Given the description of an element on the screen output the (x, y) to click on. 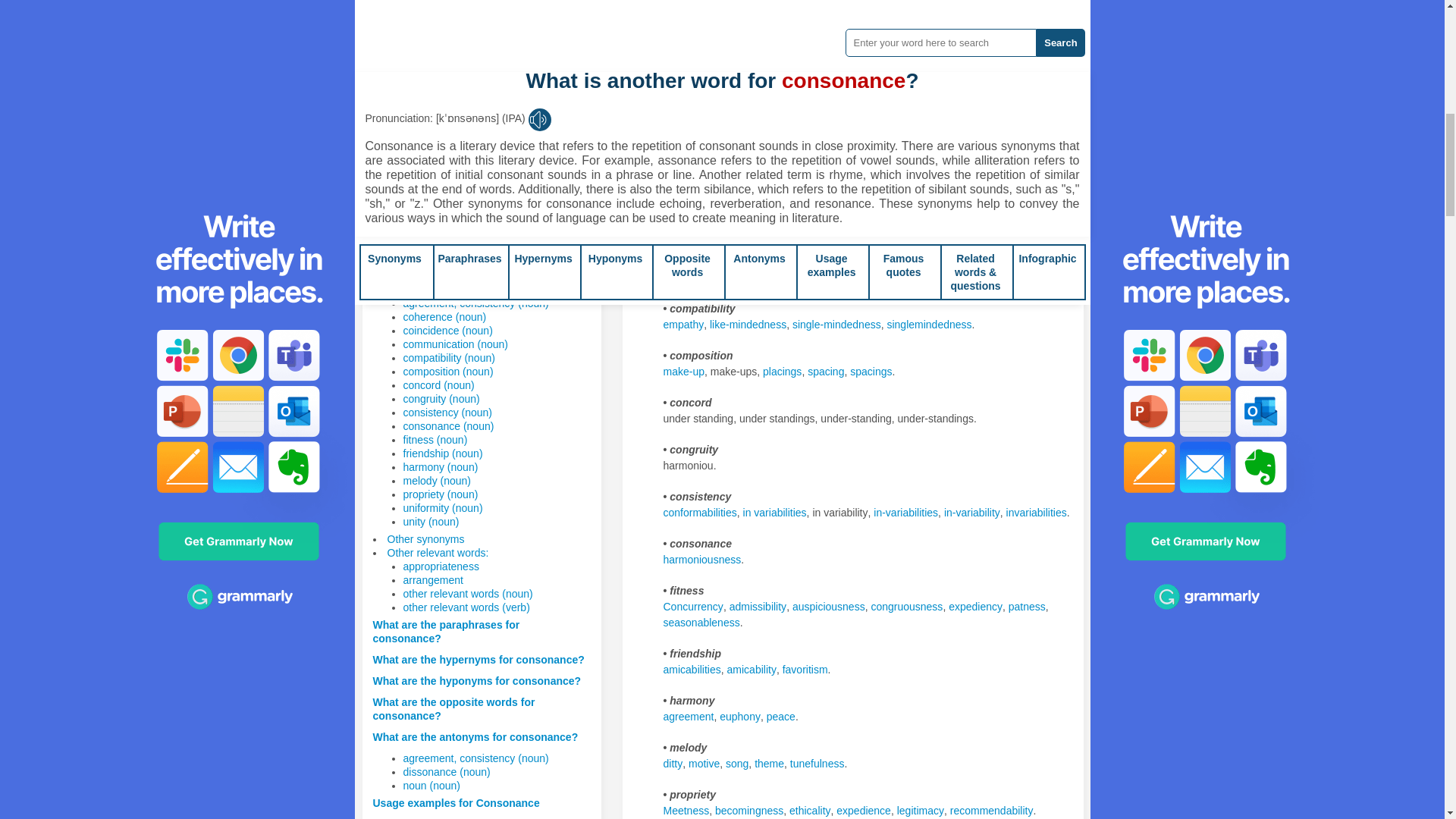
Synonyms for Consonance (678, 104)
Other synonyms (425, 539)
Synonyms for Consonance (784, 183)
What is another word for consonance? (470, 260)
Synonyms for Consonance (836, 324)
Synonyms for Consonance (691, 277)
Synonyms for Consonance (1010, 183)
arrangement (433, 580)
Synonyms for Consonance (869, 183)
Synonyms for Consonance (782, 371)
